Given the description of an element on the screen output the (x, y) to click on. 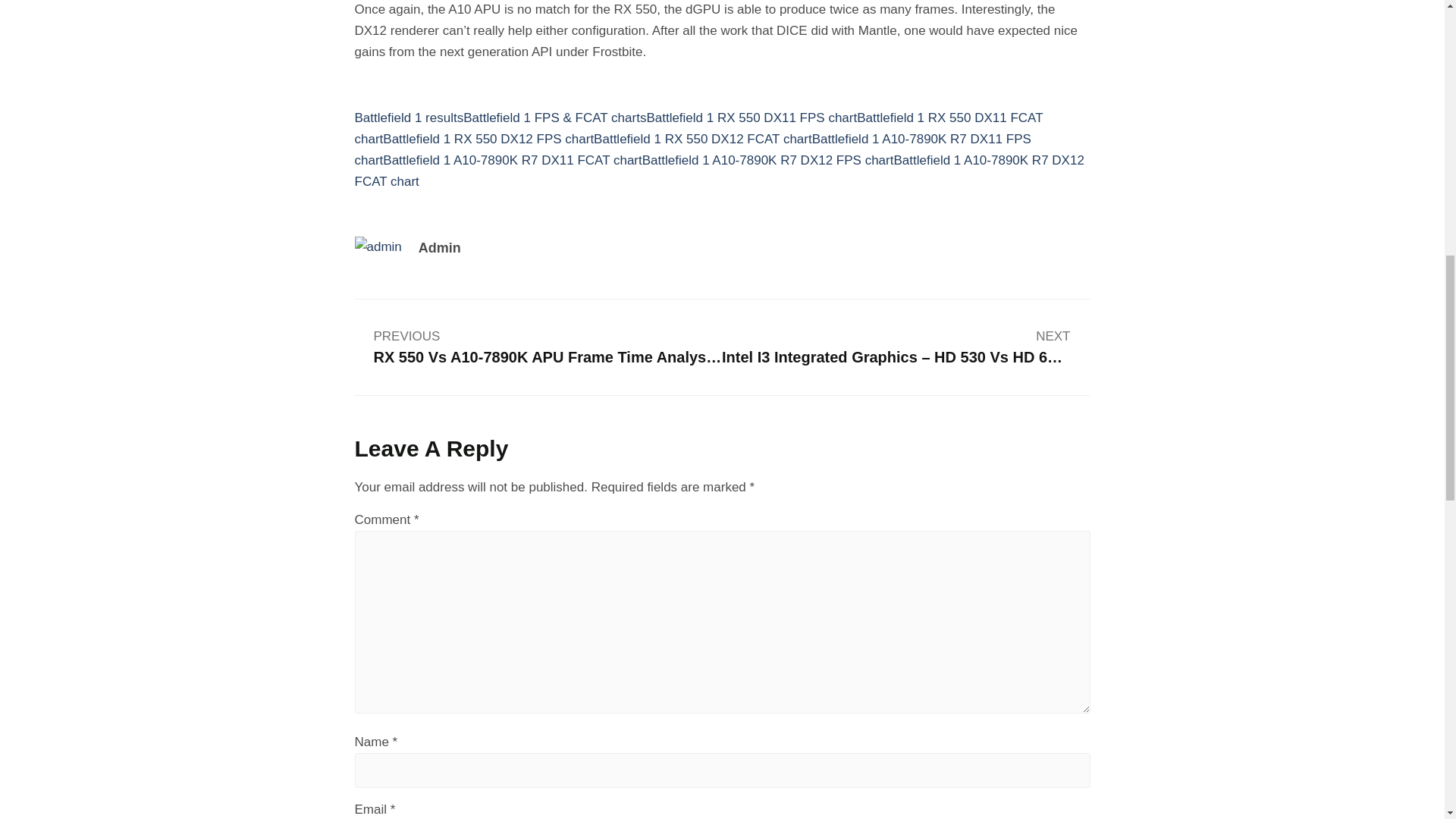
Battlefield 1 RX 550 DX12 FPS chart (488, 138)
Battlefield 1 RX 550 DX12 FCAT chart (703, 138)
Battlefield 1 RX 550 DX11 FPS chart (751, 117)
Battlefield 1 A10-7890K R7 DX11 FCAT chart (512, 160)
Battlefield 1 A10-7890K R7 DX12 FPS chart (767, 160)
Admin (605, 248)
Battlefield 1 A10-7890K R7 DX11 FPS chart (692, 149)
Battlefield 1 RX 550 DX11 FCAT chart (699, 128)
Battlefield 1 A10-7890K R7 DX12 FCAT chart (719, 171)
Battlefield 1 results (409, 117)
